Given the description of an element on the screen output the (x, y) to click on. 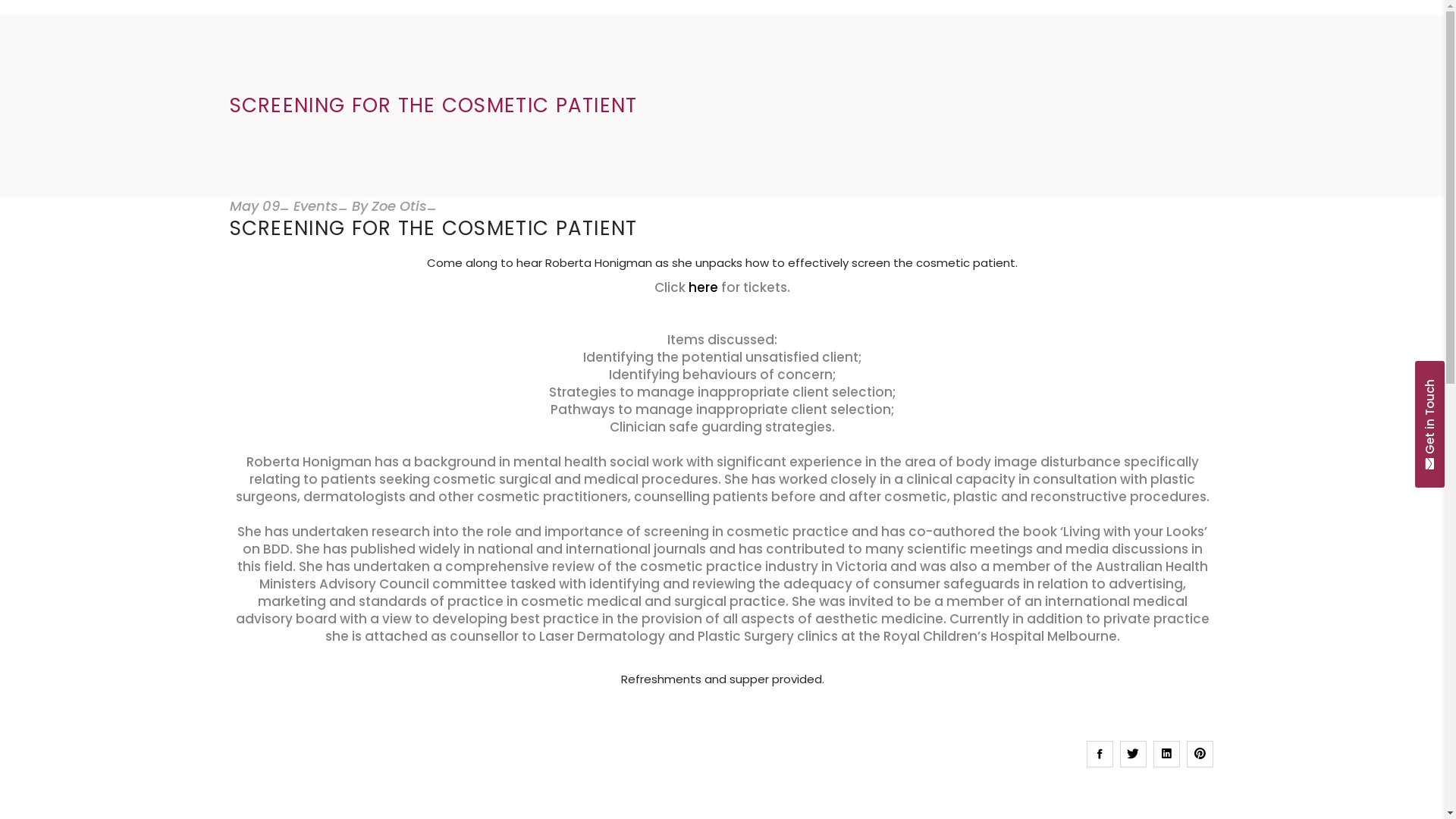
here Element type: text (703, 287)
Events Element type: text (314, 205)
Zoe Otis Element type: text (398, 205)
May 09 Element type: text (254, 205)
